Given the description of an element on the screen output the (x, y) to click on. 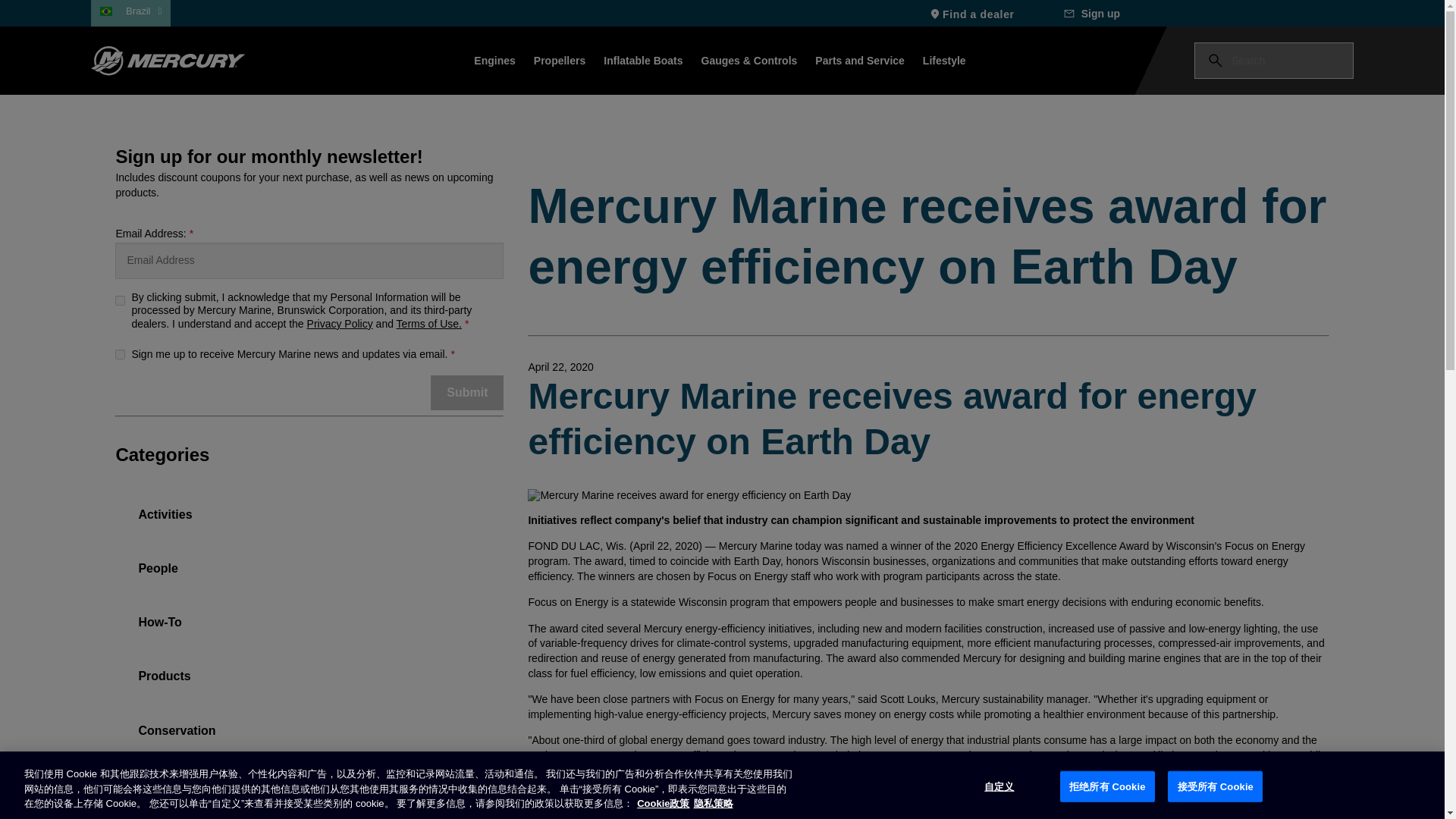
People (157, 576)
How-To (159, 630)
Conservation (176, 738)
Find a dealer (971, 13)
Products (163, 684)
Company (165, 792)
Activities (164, 522)
Brazil (143, 10)
Sign up (1093, 13)
yes (120, 300)
Brazil (143, 10)
yes (120, 354)
